Given the description of an element on the screen output the (x, y) to click on. 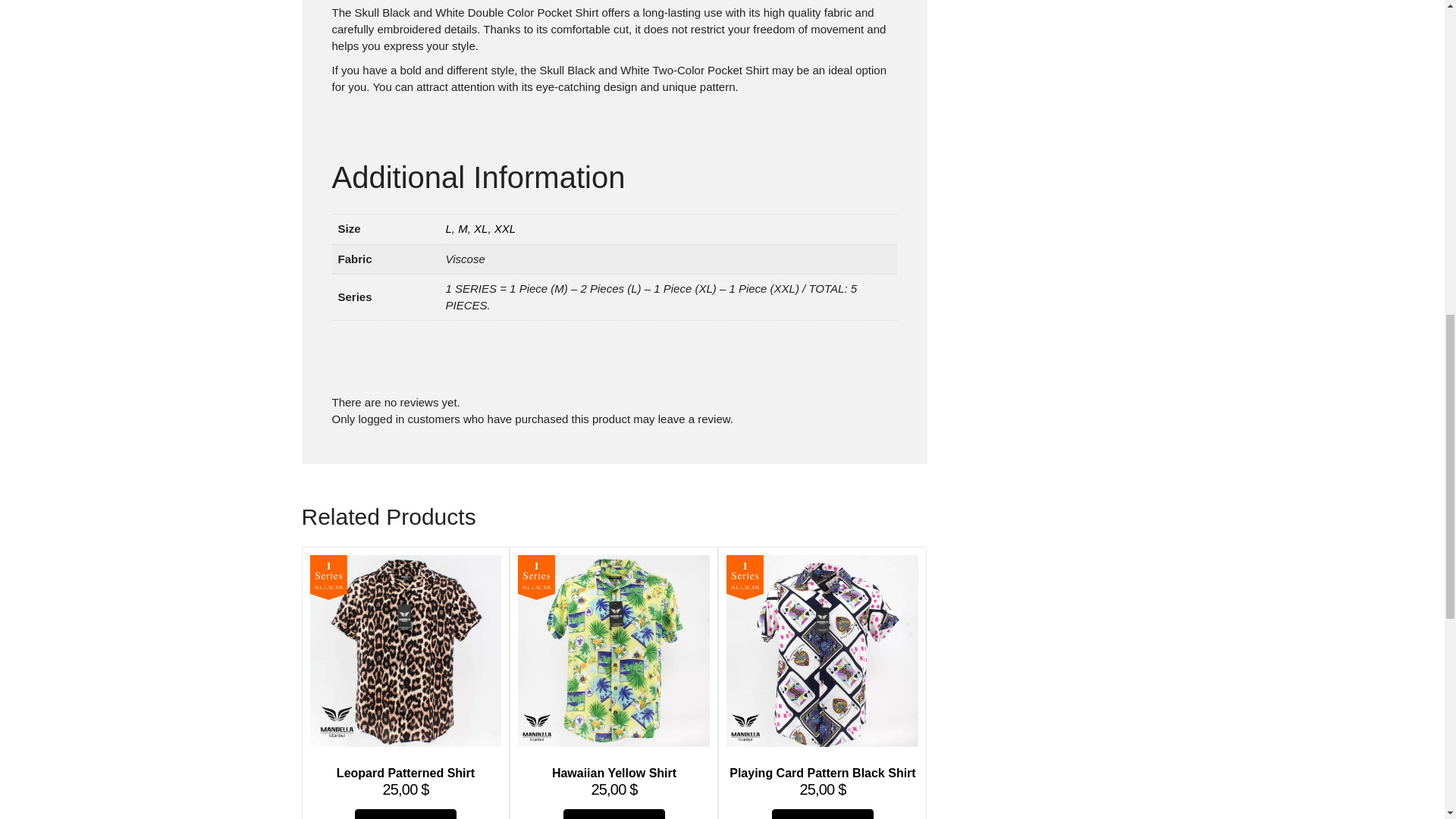
Add to cart (406, 814)
XL (480, 228)
Add to cart (822, 814)
XXL (505, 228)
Add to cart (614, 814)
